Given the description of an element on the screen output the (x, y) to click on. 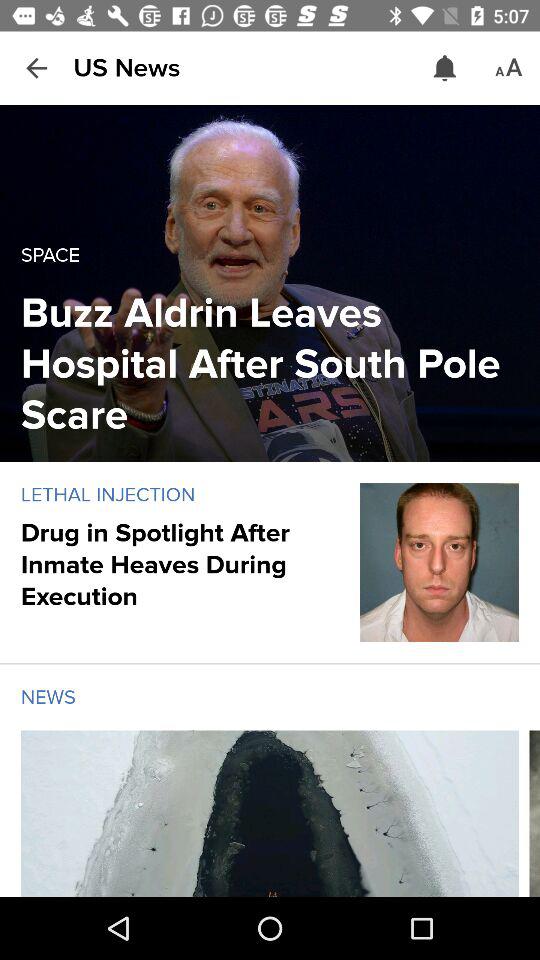
press the icon to the left of us news (36, 68)
